Given the description of an element on the screen output the (x, y) to click on. 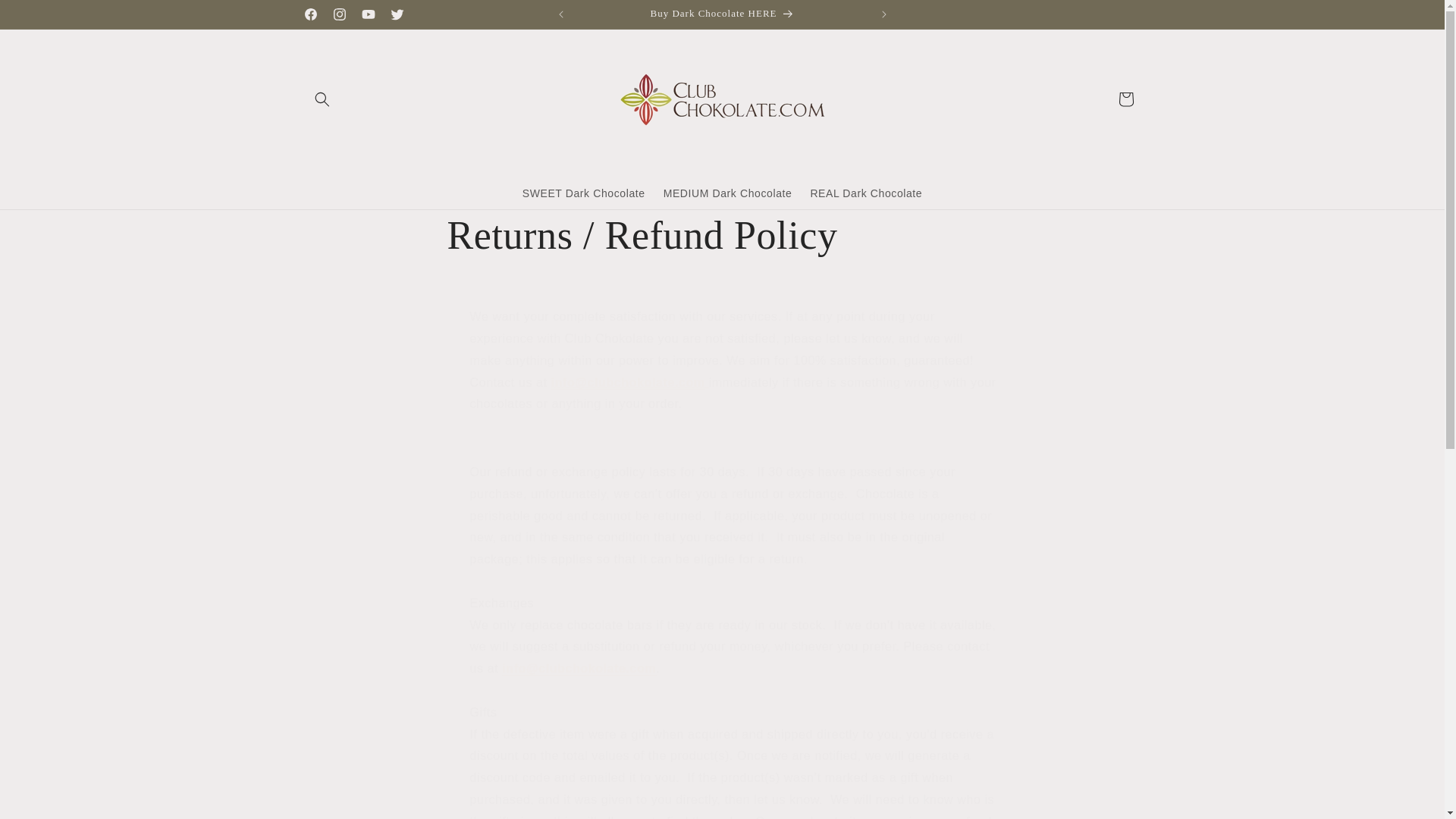
Cart (1124, 99)
Contact us (579, 667)
Facebook (309, 14)
SWEET Dark Chocolate (583, 193)
Instagram (338, 14)
Skip to content (45, 17)
Buy Dark Chocolate HERE (722, 14)
MEDIUM Dark Chocolate (727, 193)
REAL Dark Chocolate (865, 193)
YouTube (367, 14)
k (627, 382)
Twitter (395, 14)
